Given the description of an element on the screen output the (x, y) to click on. 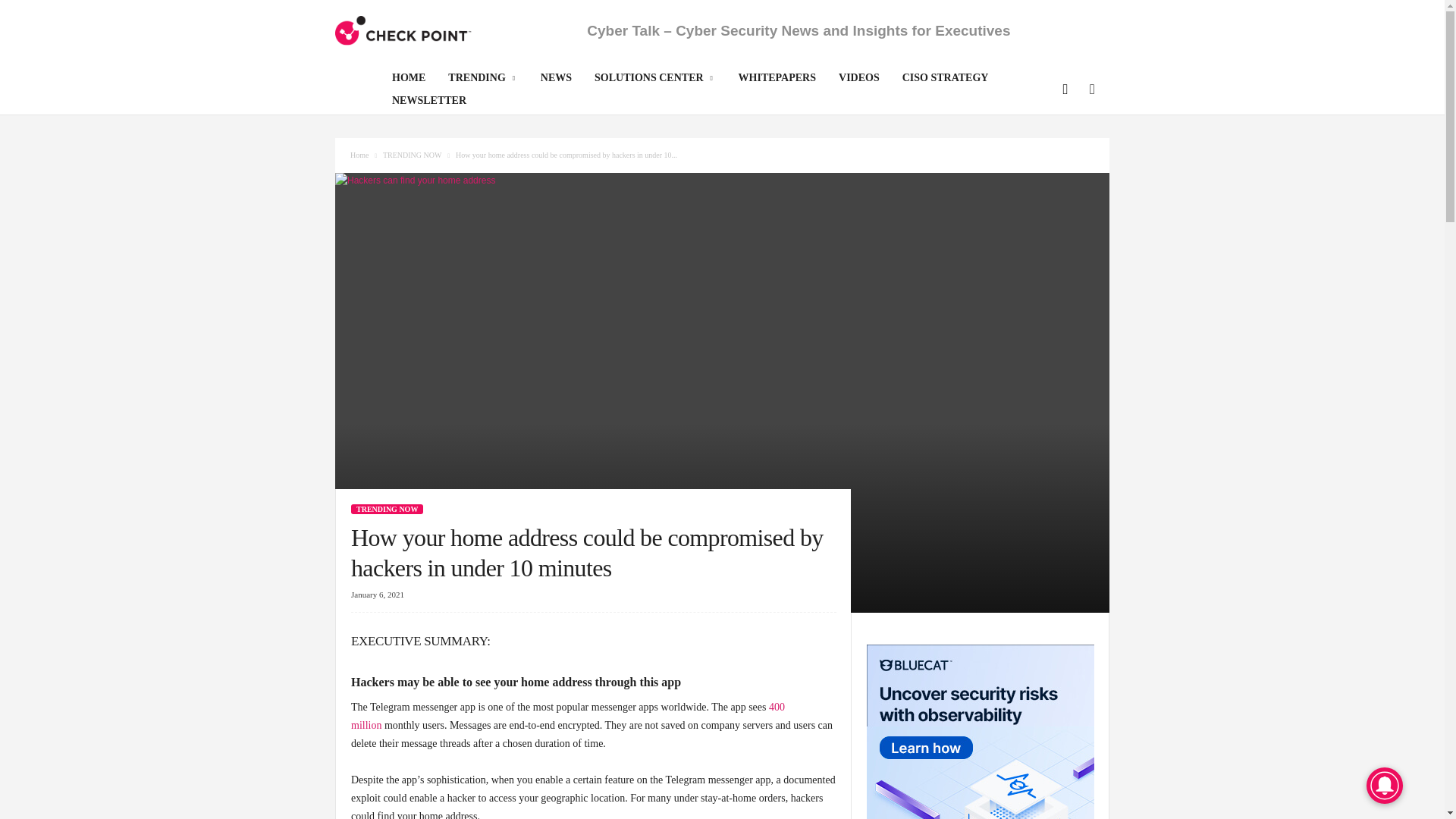
View all posts in TRENDING NOW (412, 154)
TRENDING NOW (386, 509)
CISO STRATEGY (945, 79)
VIDEOS (859, 79)
HOME (408, 79)
TRENDING NOW (412, 154)
SOLUTIONS CENTER (654, 79)
NEWSLETTER (428, 102)
CyberTalk.org (402, 30)
Home (359, 154)
RSS (1090, 90)
NEWS (556, 79)
WHITEPAPERS (776, 79)
TRENDING (482, 79)
